Given the description of an element on the screen output the (x, y) to click on. 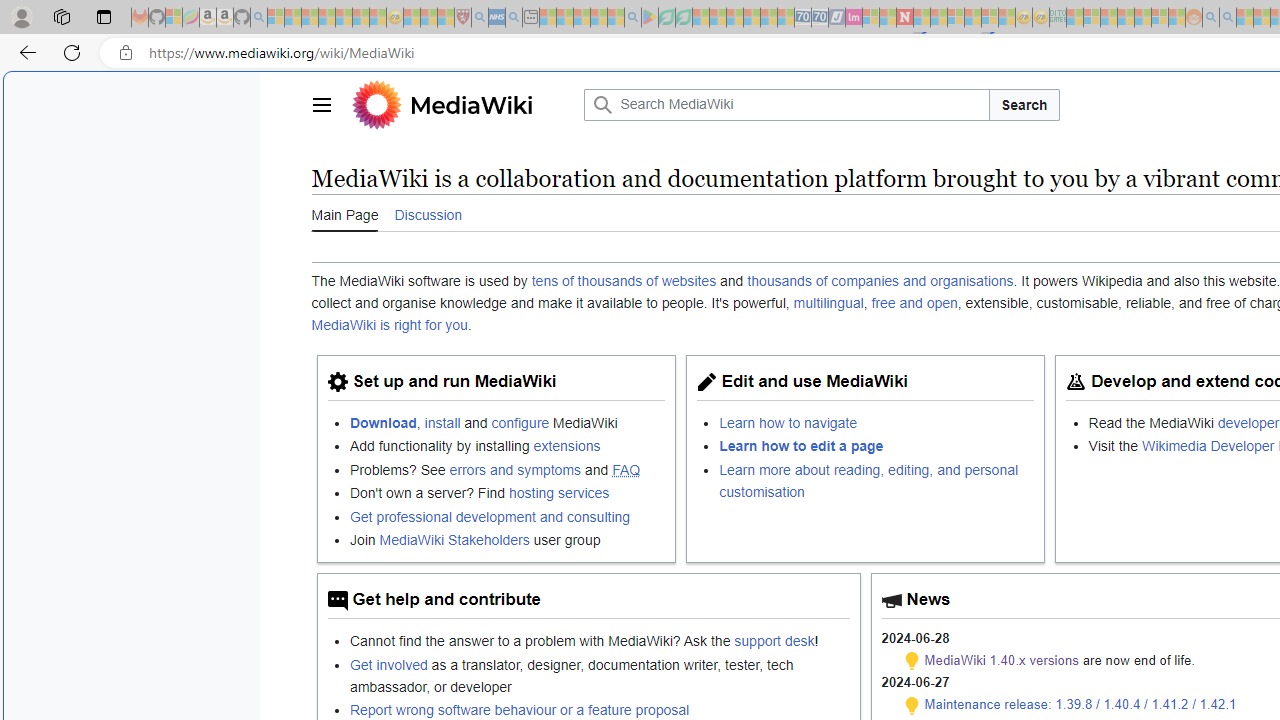
extensions (566, 446)
google - Search - Sleeping (632, 17)
Jobs - lastminute.com Investor Portal - Sleeping (853, 17)
configure (520, 422)
Cheap Car Rentals - Save70.com - Sleeping (802, 17)
Cheap Hotels - Save70.com - Sleeping (819, 17)
The Weather Channel - MSN - Sleeping (309, 17)
Microsoft Start - Sleeping (1244, 17)
Search MediaWiki (785, 104)
Get involved (388, 664)
Maintenance update (911, 705)
support desk (774, 641)
Add functionality by installing extensions (507, 445)
